Given the description of an element on the screen output the (x, y) to click on. 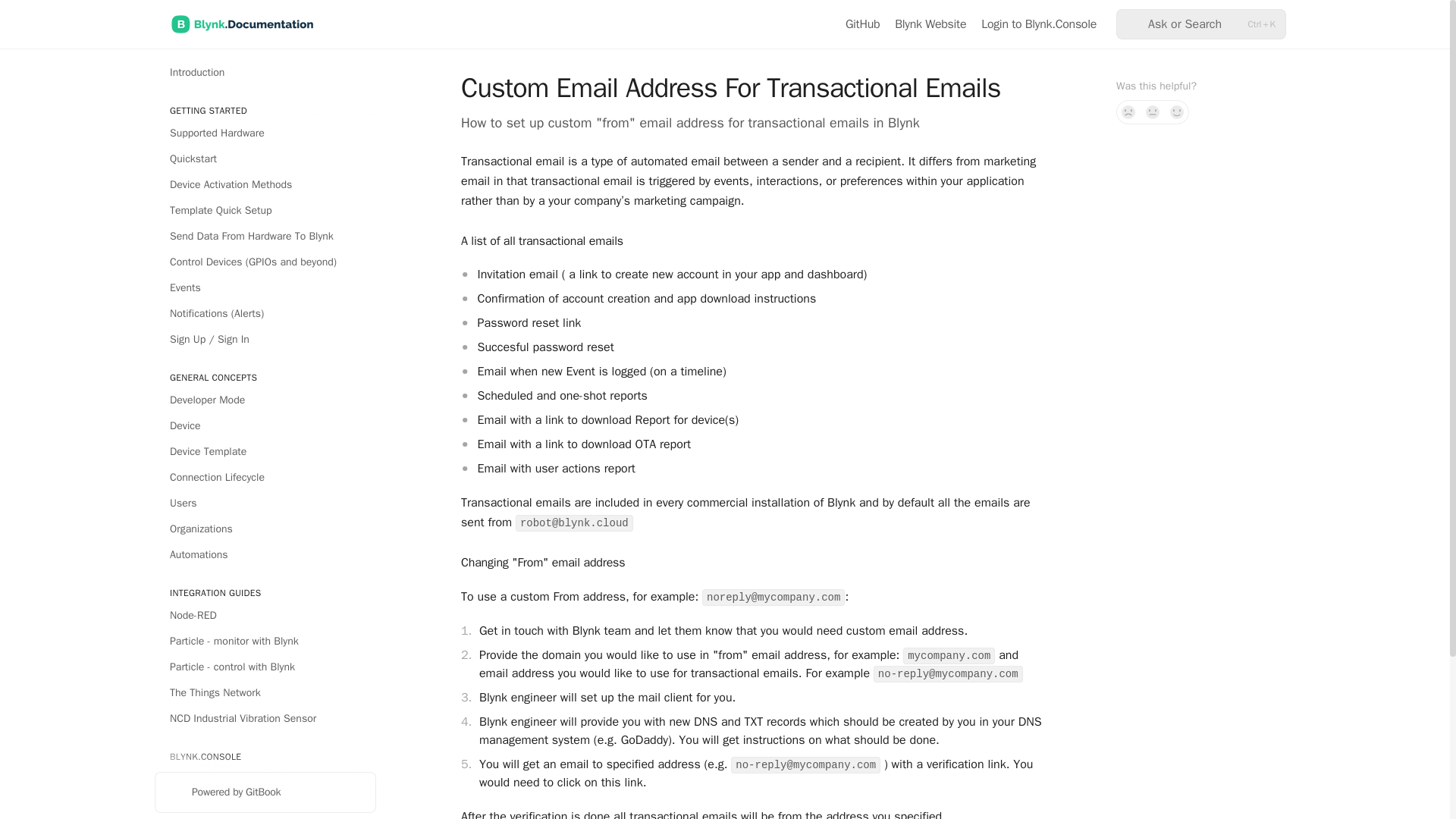
Login to Blynk.Console (1038, 24)
Template Quick Setup (264, 210)
Organizations (264, 528)
Developer Mode (264, 400)
Quickstart (264, 159)
Events (264, 288)
Blynk Website (930, 24)
Device Activation Methods (264, 184)
Automations (264, 554)
Device (264, 426)
